Given the description of an element on the screen output the (x, y) to click on. 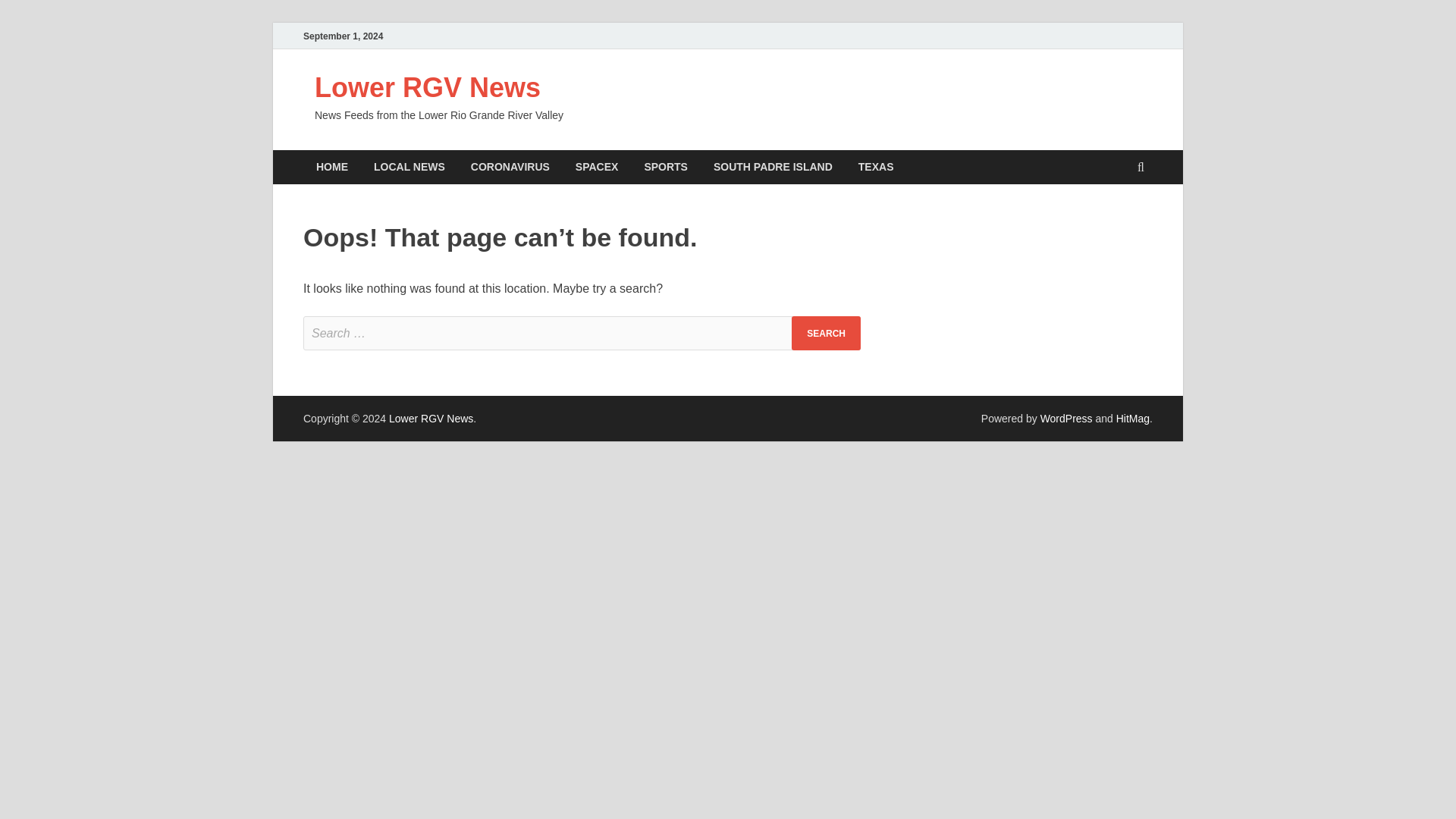
HOME (331, 166)
SOUTH PADRE ISLAND (772, 166)
Search (826, 333)
Lower RGV News (427, 87)
SPORTS (665, 166)
Search (826, 333)
SPACEX (596, 166)
CORONAVIRUS (510, 166)
TEXAS (876, 166)
LOCAL NEWS (409, 166)
